Given the description of an element on the screen output the (x, y) to click on. 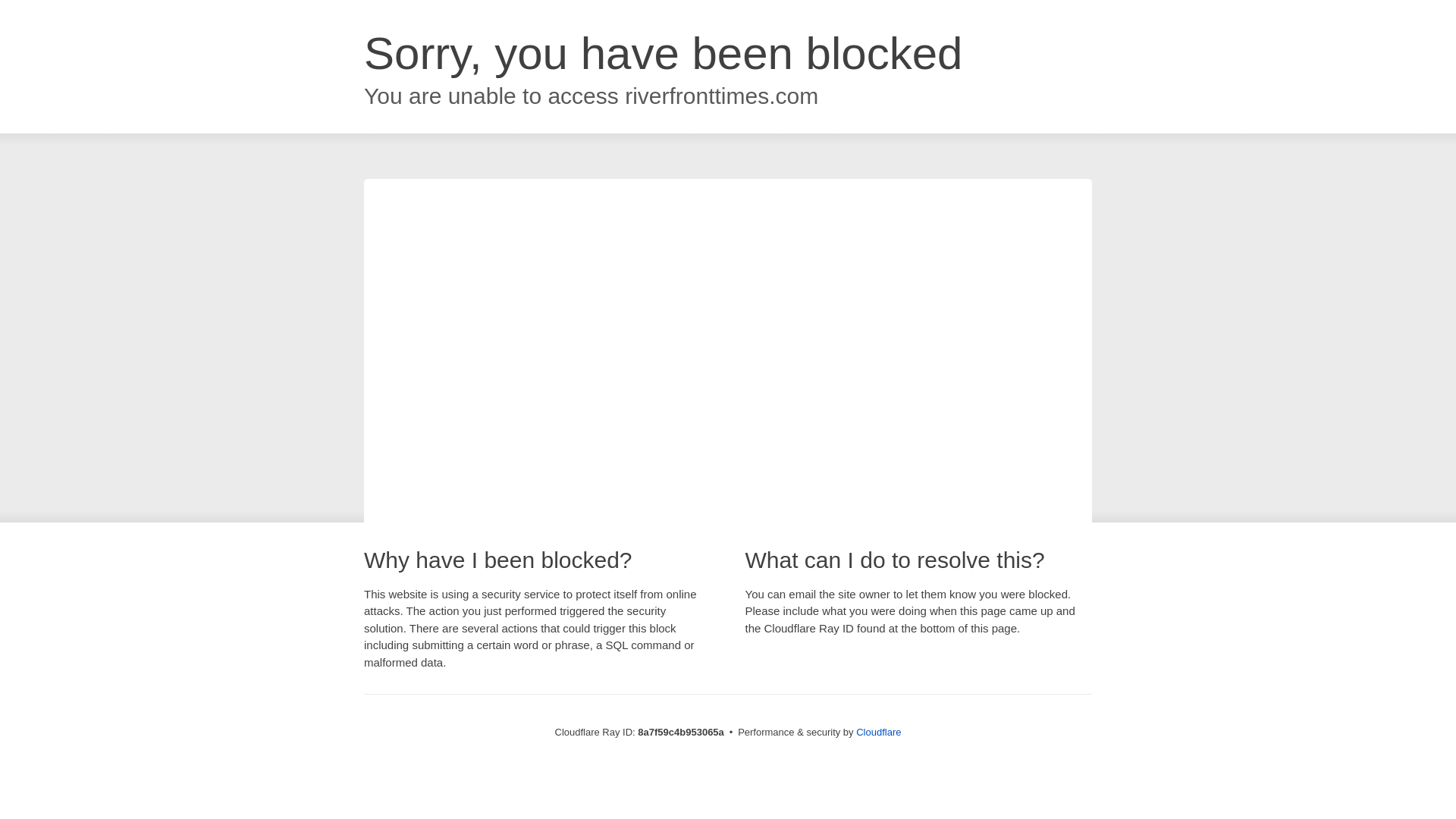
Cloudflare (878, 731)
